Given the description of an element on the screen output the (x, y) to click on. 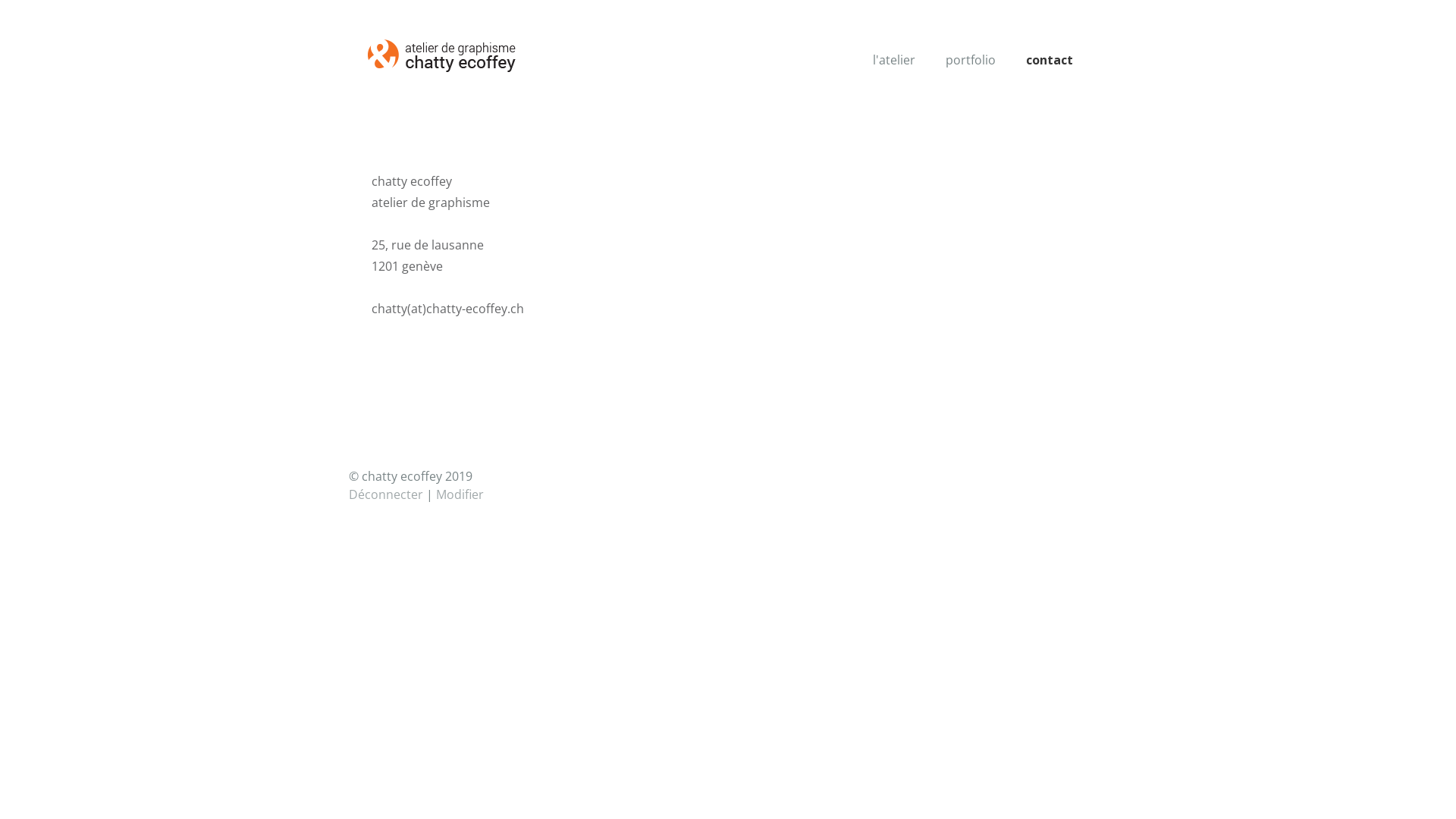
portfolio Element type: text (970, 59)
Modifier Element type: text (459, 494)
l'atelier Element type: text (893, 59)
contact Element type: text (1049, 59)
